Given the description of an element on the screen output the (x, y) to click on. 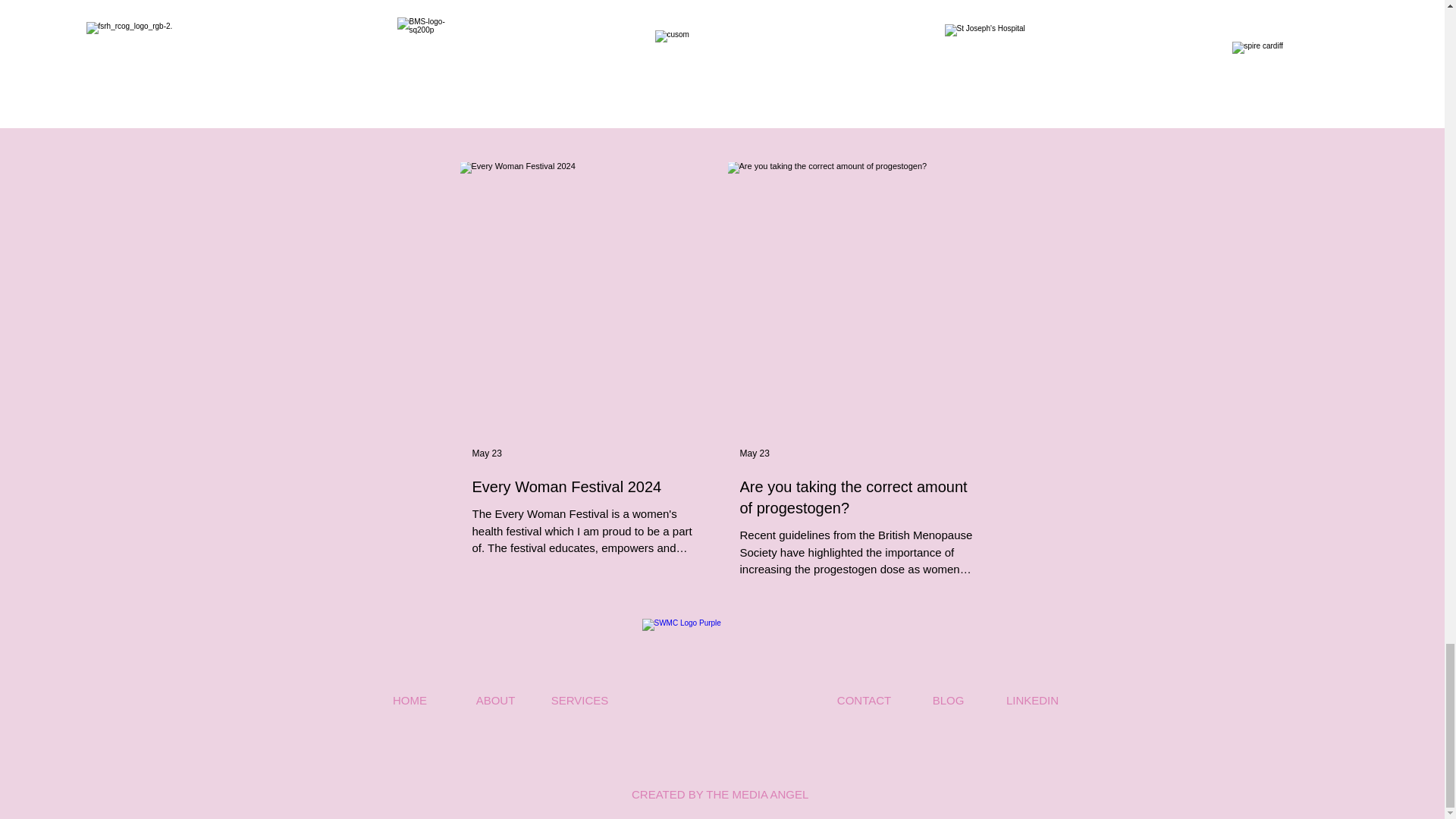
Are you taking the correct amount of progestogen? (855, 496)
ABOUT (495, 699)
May 23 (485, 452)
CREATED BY THE MEDIA ANGEL  (720, 793)
CONTACT (864, 699)
SERVICES (579, 699)
BLOG (948, 699)
May 23 (754, 452)
LINKEDIN (1032, 699)
HOME  (411, 699)
